Given the description of an element on the screen output the (x, y) to click on. 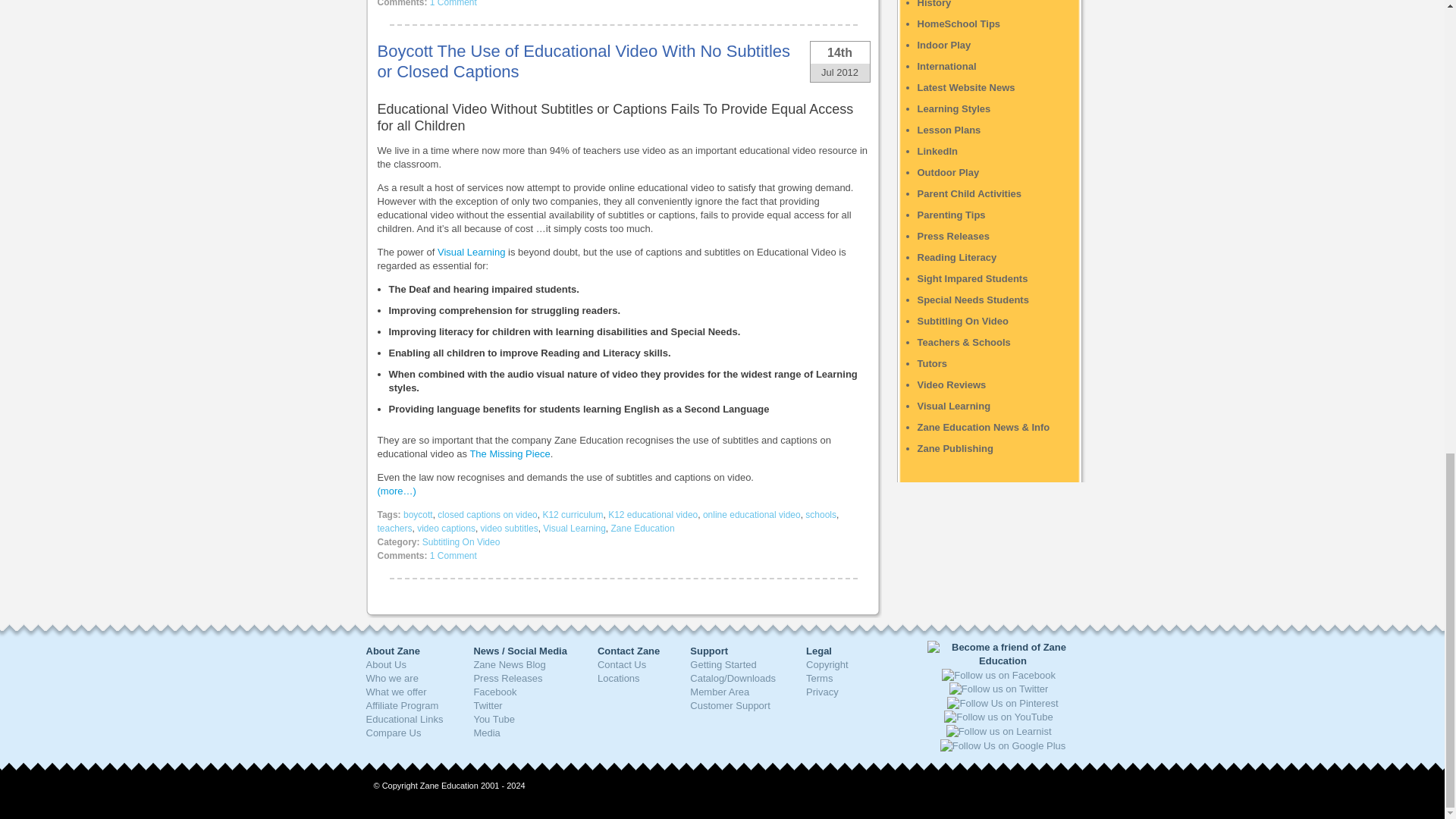
Useful and interesting parenting tips and information. (951, 214)
visual learning in schools (471, 251)
subtitles and captions on educational video (509, 453)
